Given the description of an element on the screen output the (x, y) to click on. 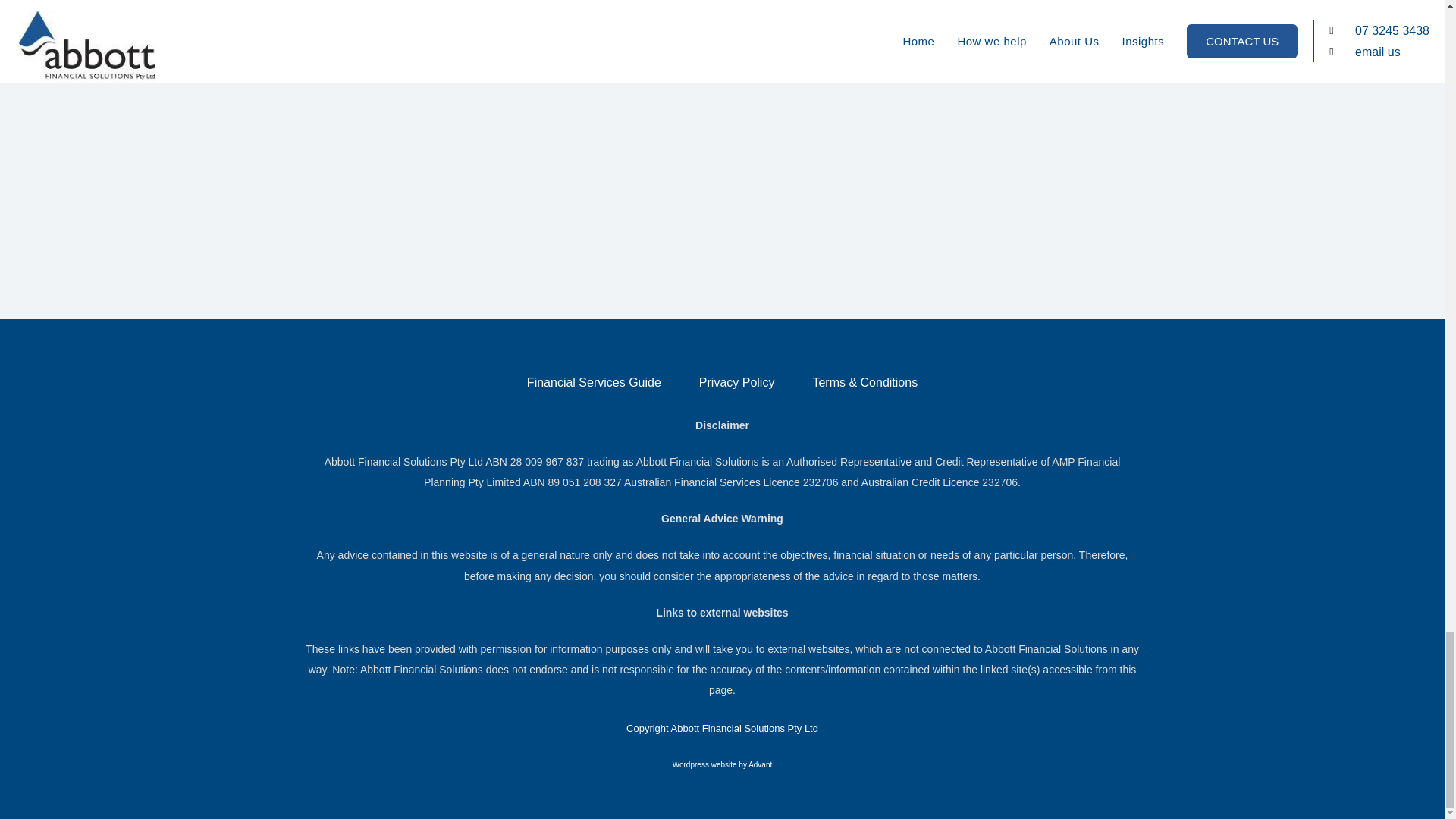
Privacy Policy (737, 382)
Financial Services Guide (594, 382)
